Given the description of an element on the screen output the (x, y) to click on. 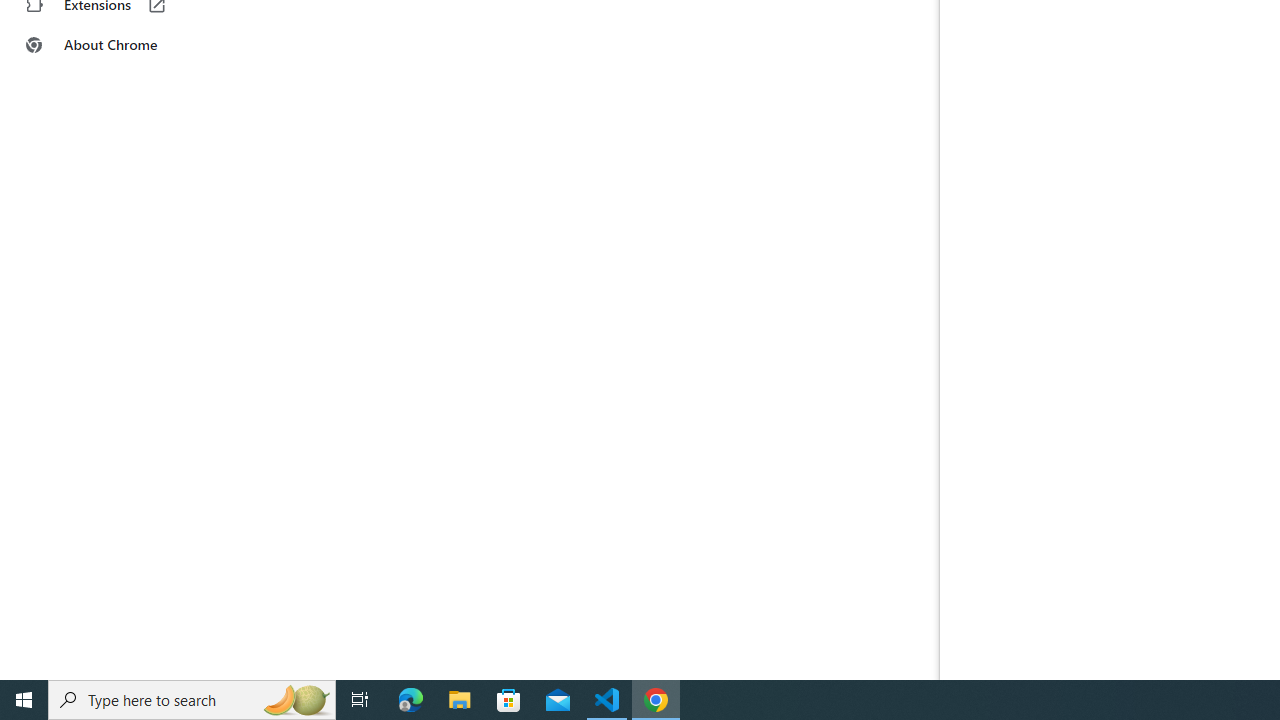
About Chrome (124, 44)
